Given the description of an element on the screen output the (x, y) to click on. 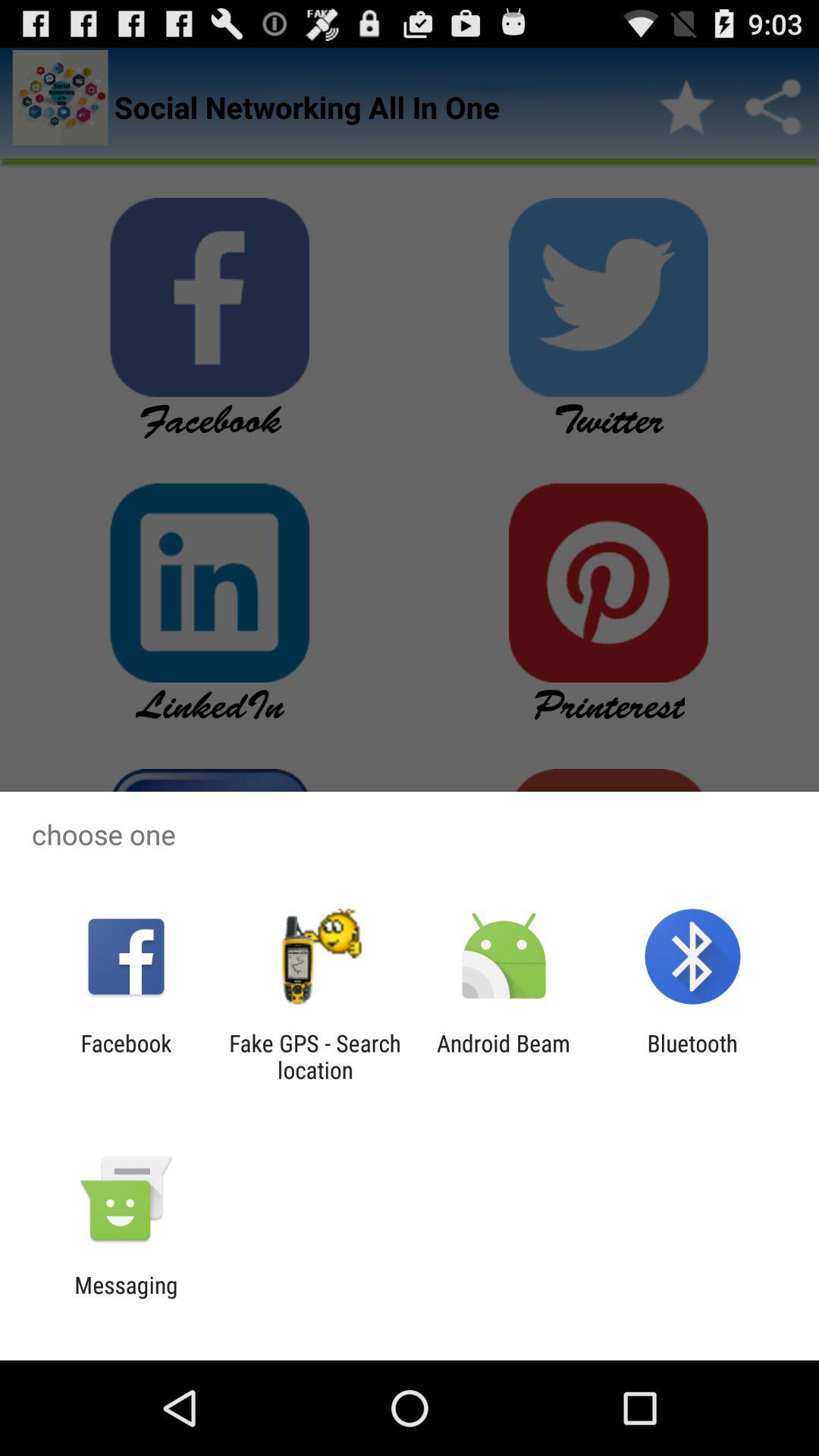
turn on facebook icon (125, 1056)
